Given the description of an element on the screen output the (x, y) to click on. 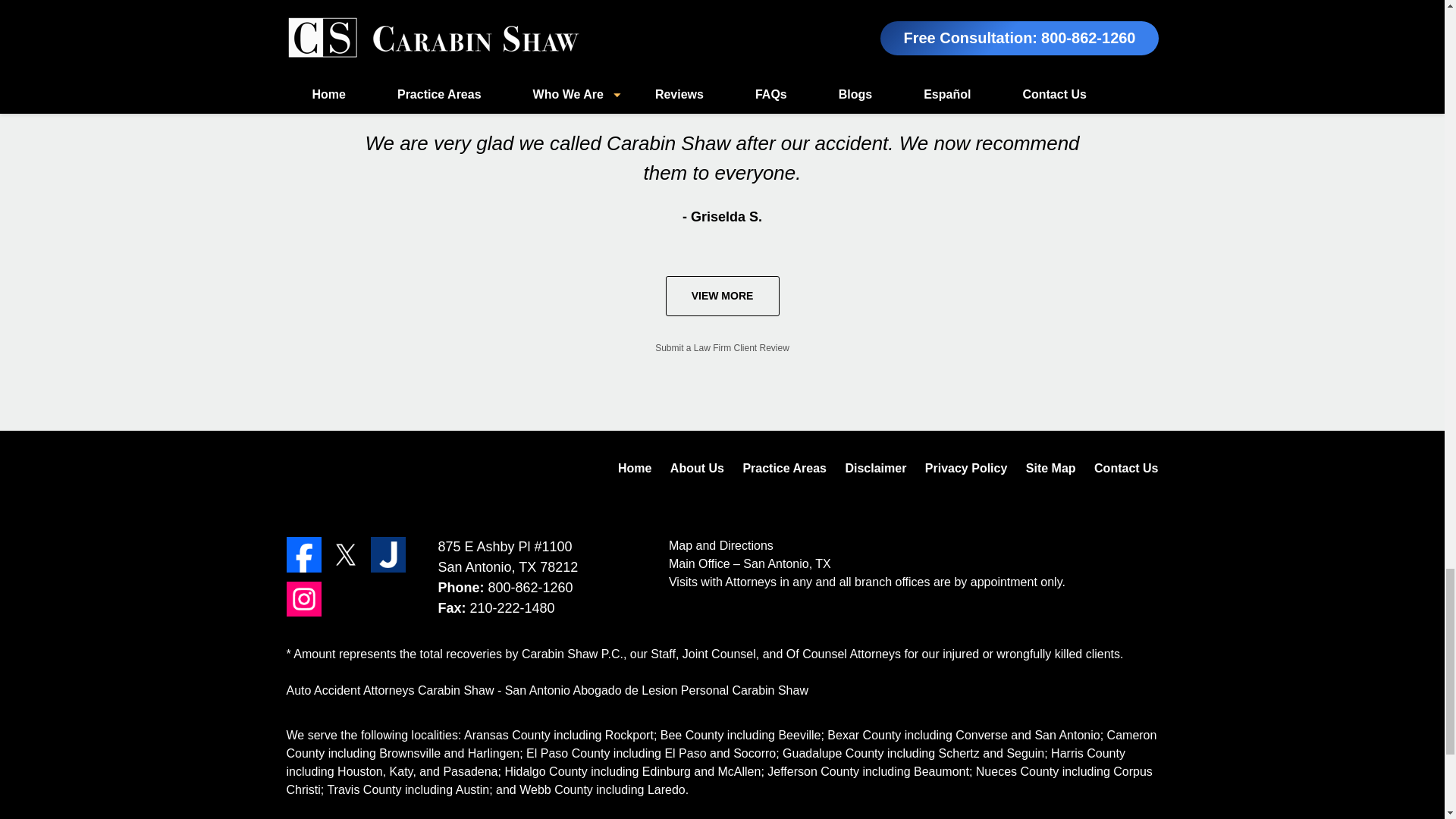
Instagram (303, 598)
Facebook (303, 554)
Justia (388, 554)
Twitter (345, 554)
